Given the description of an element on the screen output the (x, y) to click on. 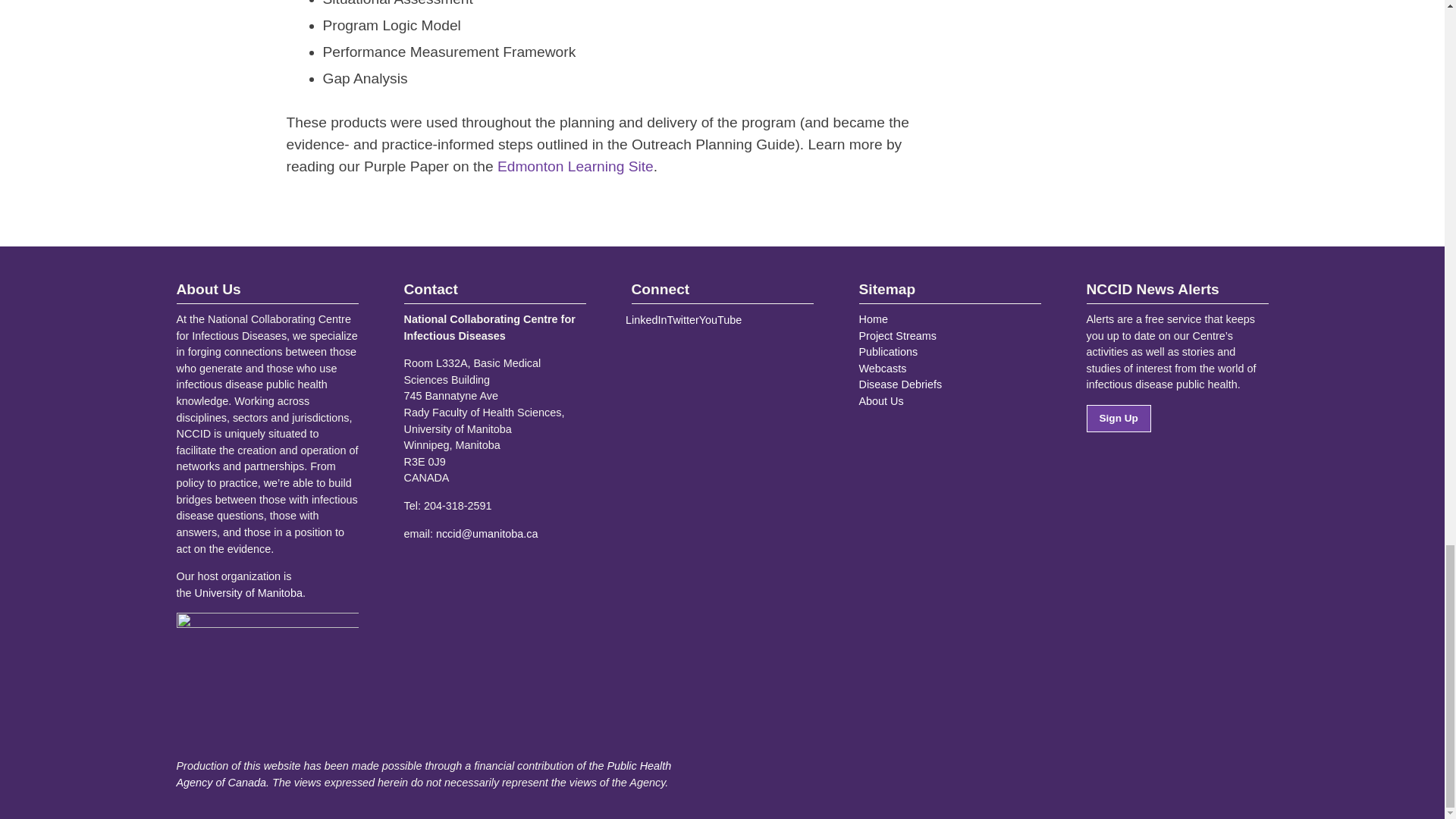
Edmonton Learning Site (575, 166)
Project Streams (897, 336)
LinkedIn (646, 319)
Public Health Agency of Canada (423, 774)
YouTube (720, 319)
Disease Debriefs (900, 384)
University of Manitoba (248, 592)
Publications (888, 351)
Sign Up (1118, 418)
Home (872, 318)
